Given the description of an element on the screen output the (x, y) to click on. 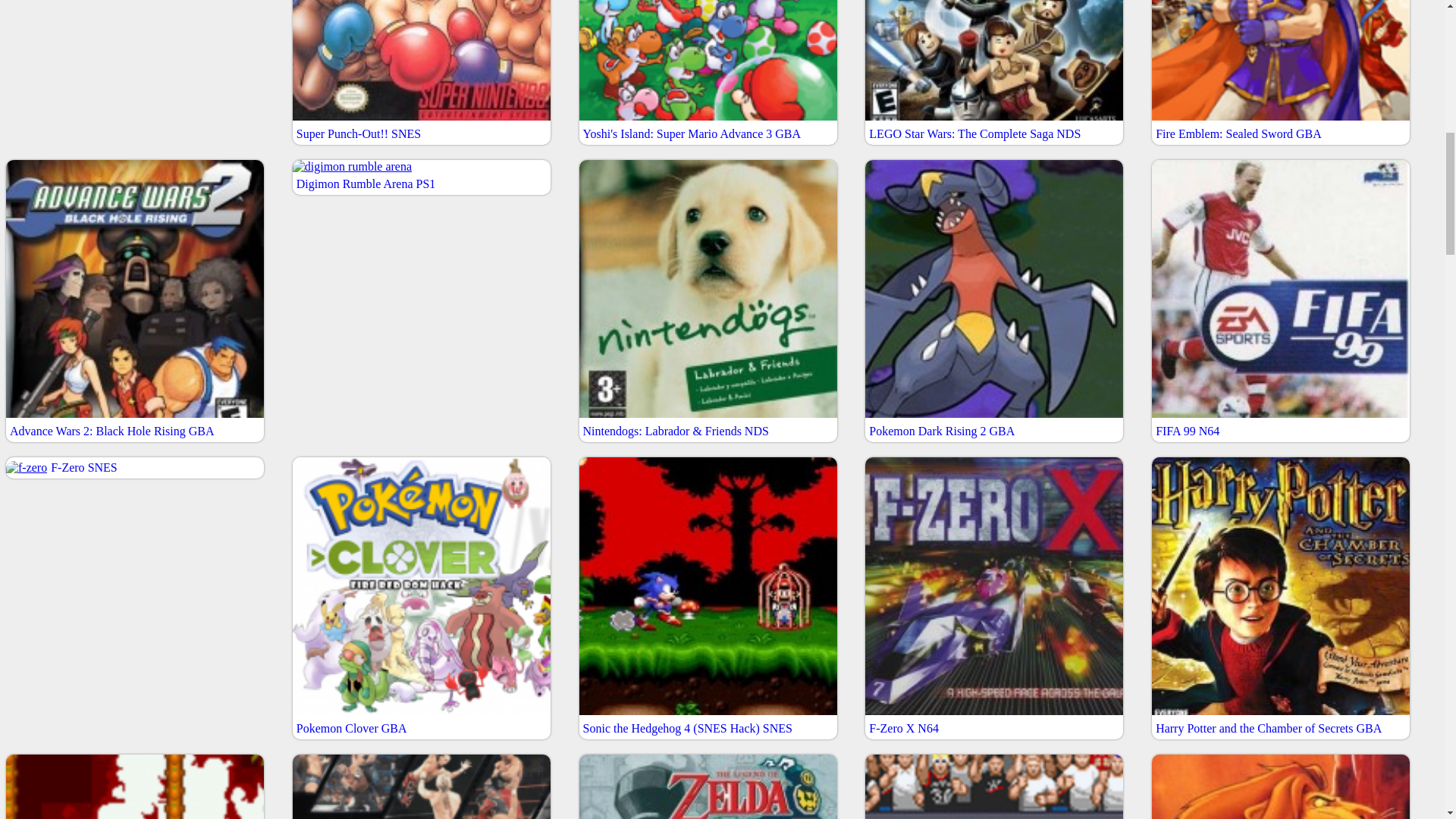
Yoshi's Island: Super Mario Advance 3 GBA (708, 72)
Super Punch-Out!! SNES (421, 72)
